Given the description of an element on the screen output the (x, y) to click on. 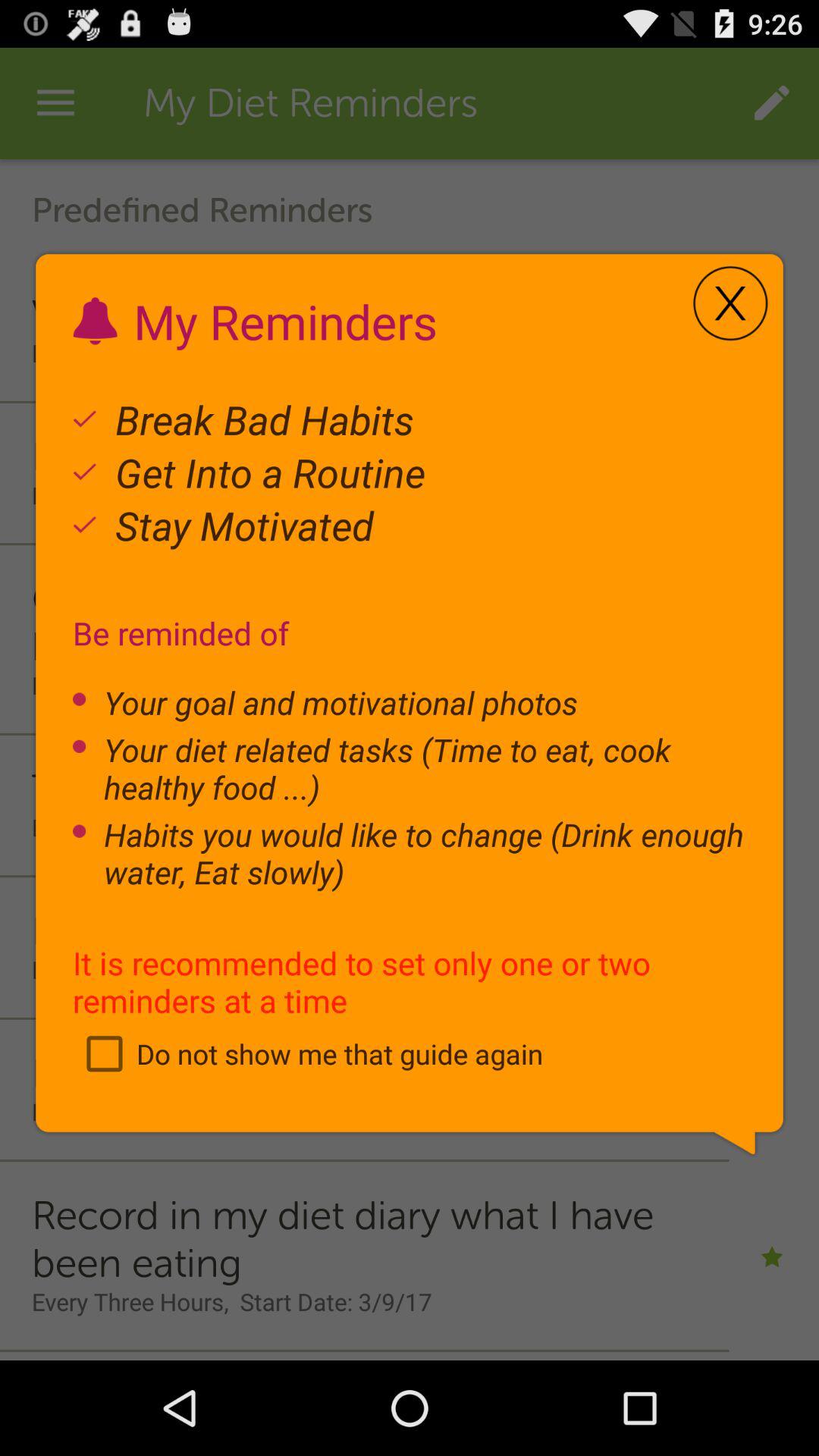
choose icon next to my reminders icon (730, 303)
